Given the description of an element on the screen output the (x, y) to click on. 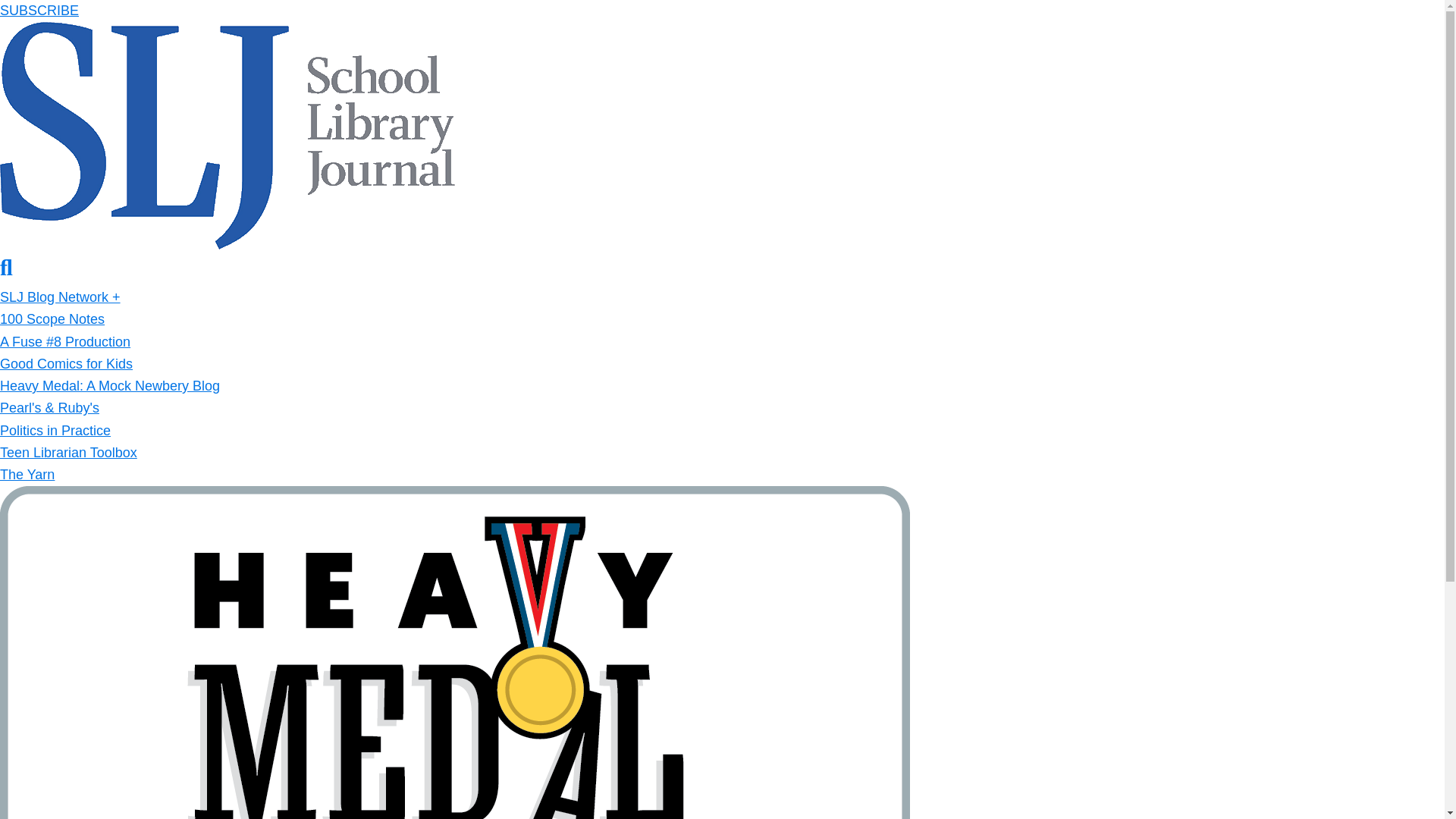
The Yarn (27, 474)
SUBSCRIBE (39, 10)
Teen Librarian Toolbox (68, 452)
100 Scope Notes (52, 319)
Good Comics for Kids (66, 363)
Heavy Medal: A Mock Newbery Blog (109, 385)
Politics in Practice (55, 430)
